Given the description of an element on the screen output the (x, y) to click on. 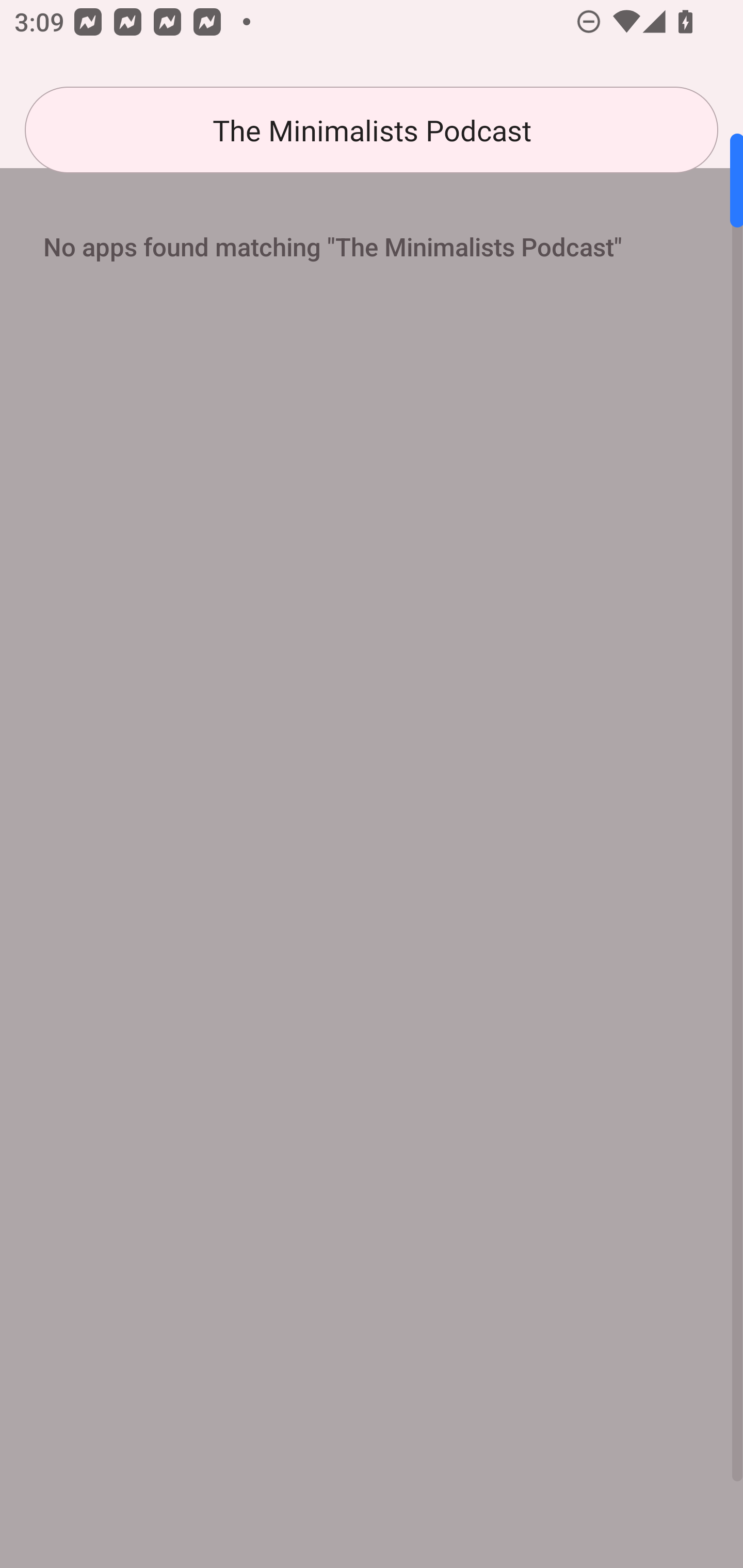
The Minimalists Podcast (371, 130)
